Given the description of an element on the screen output the (x, y) to click on. 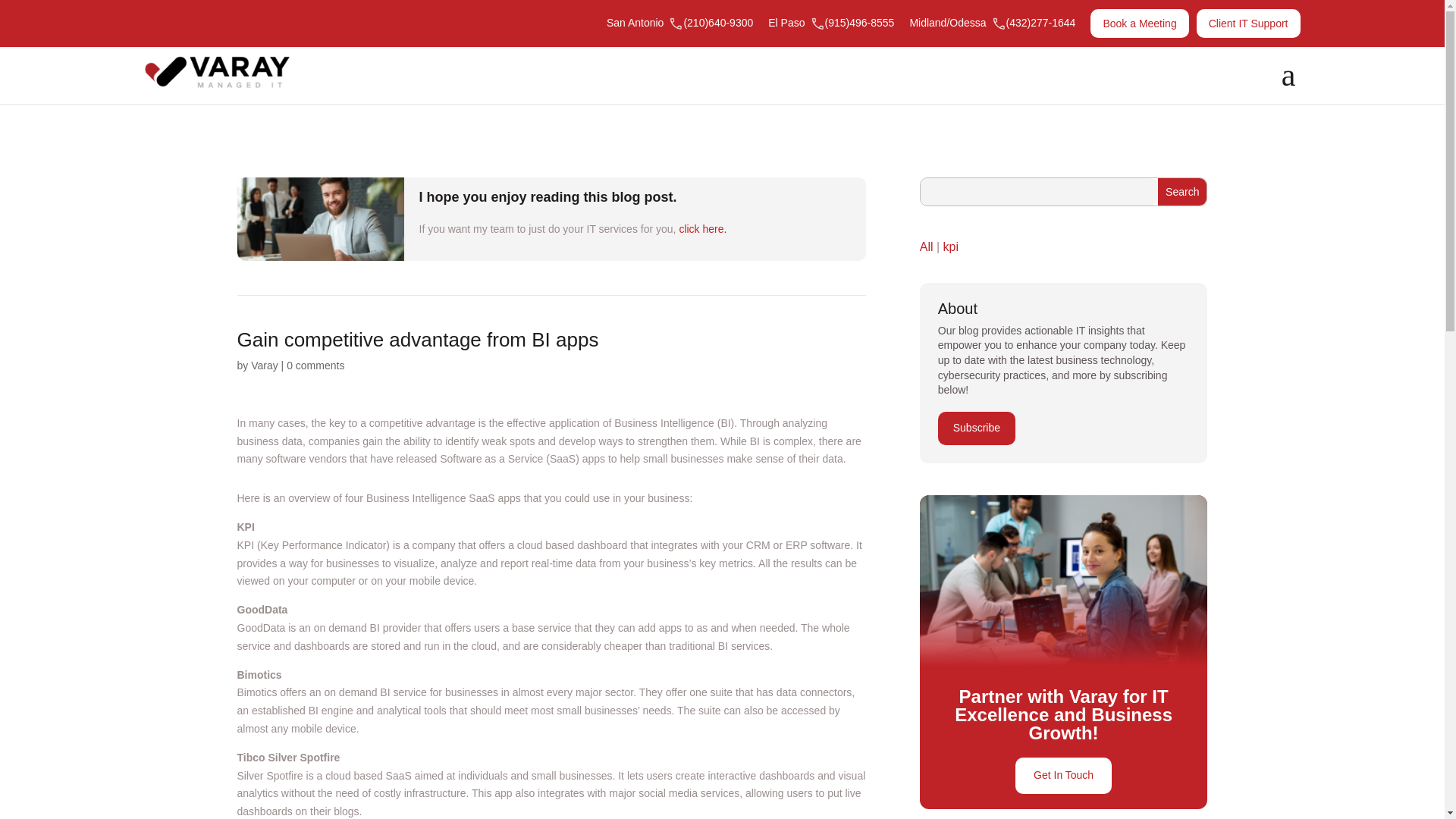
Search (1182, 191)
Client IT Support (1248, 23)
Varay (264, 365)
Search (1182, 191)
0 comments (314, 365)
Book a Meeting (1139, 23)
click here. (702, 228)
Posts by Varay (264, 365)
